Given the description of an element on the screen output the (x, y) to click on. 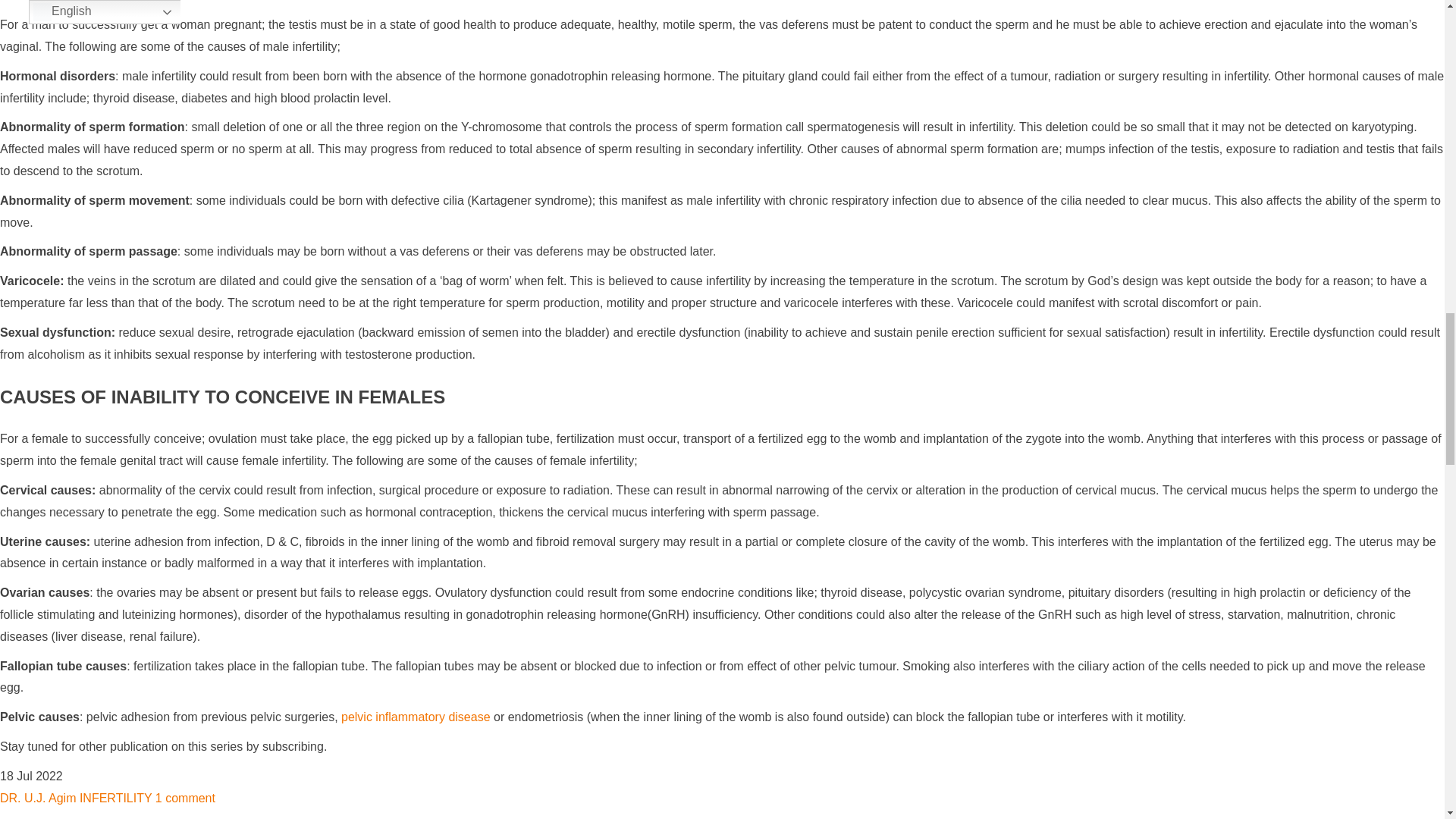
pelvic inflammatory disease (415, 716)
INFERTILITY (115, 797)
1 comment (185, 797)
DR. U.J. Agim (37, 797)
